Given the description of an element on the screen output the (x, y) to click on. 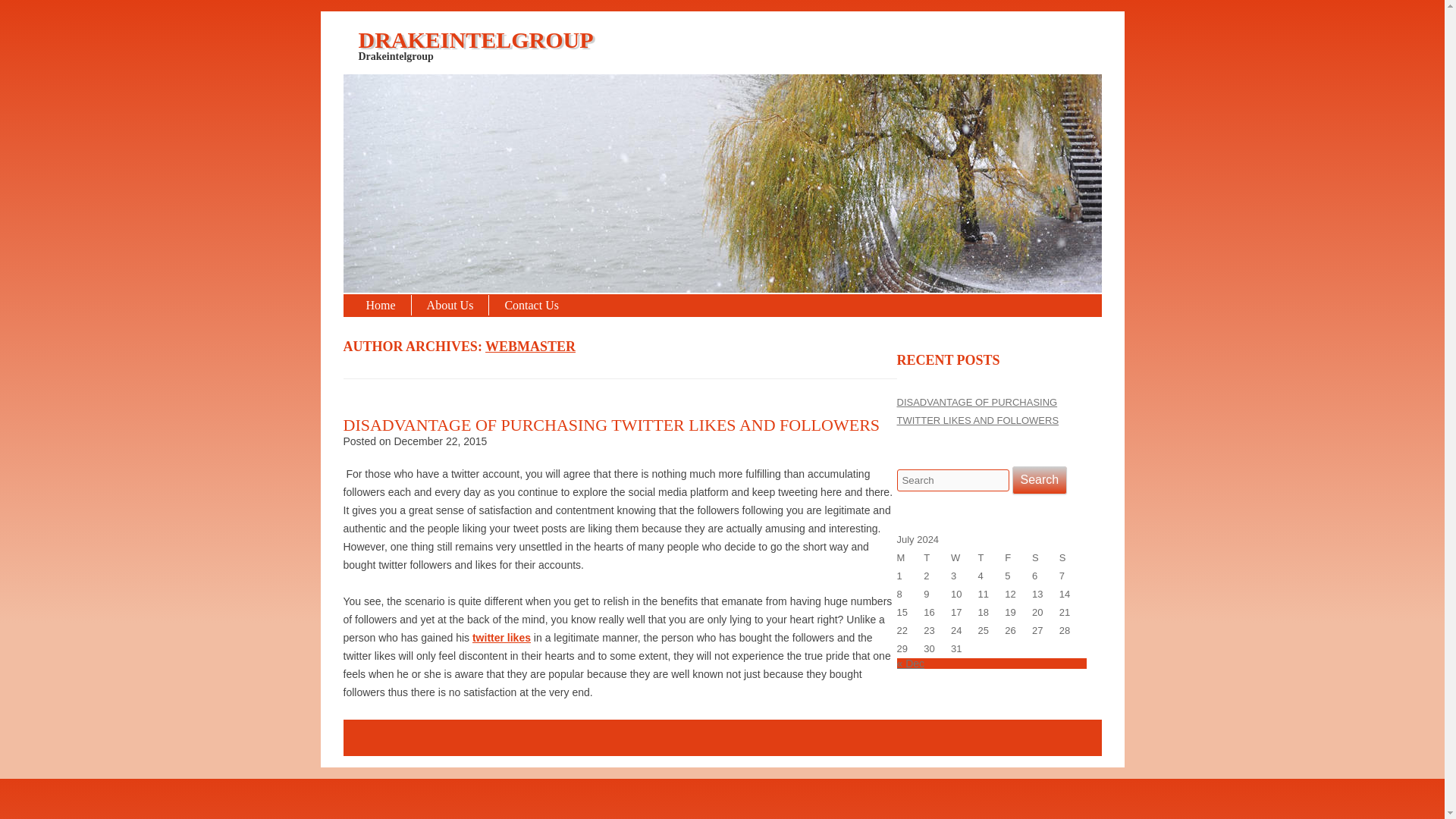
DISADVANTAGE OF PURCHASING TWITTER LIKES AND FOLLOWERS (977, 410)
Search (1039, 480)
Thursday (992, 557)
Friday (1018, 557)
Monday (909, 557)
webmaster (529, 346)
Skip to primary content (53, 16)
Wednesday (964, 557)
Sunday (1072, 557)
Search (1039, 480)
WEBMASTER (529, 346)
DISADVANTAGE OF PURCHASING TWITTER LIKES AND FOLLOWERS (610, 424)
Contact Us (530, 304)
Skip to secondary content (61, 16)
Saturday (1045, 557)
